Given the description of an element on the screen output the (x, y) to click on. 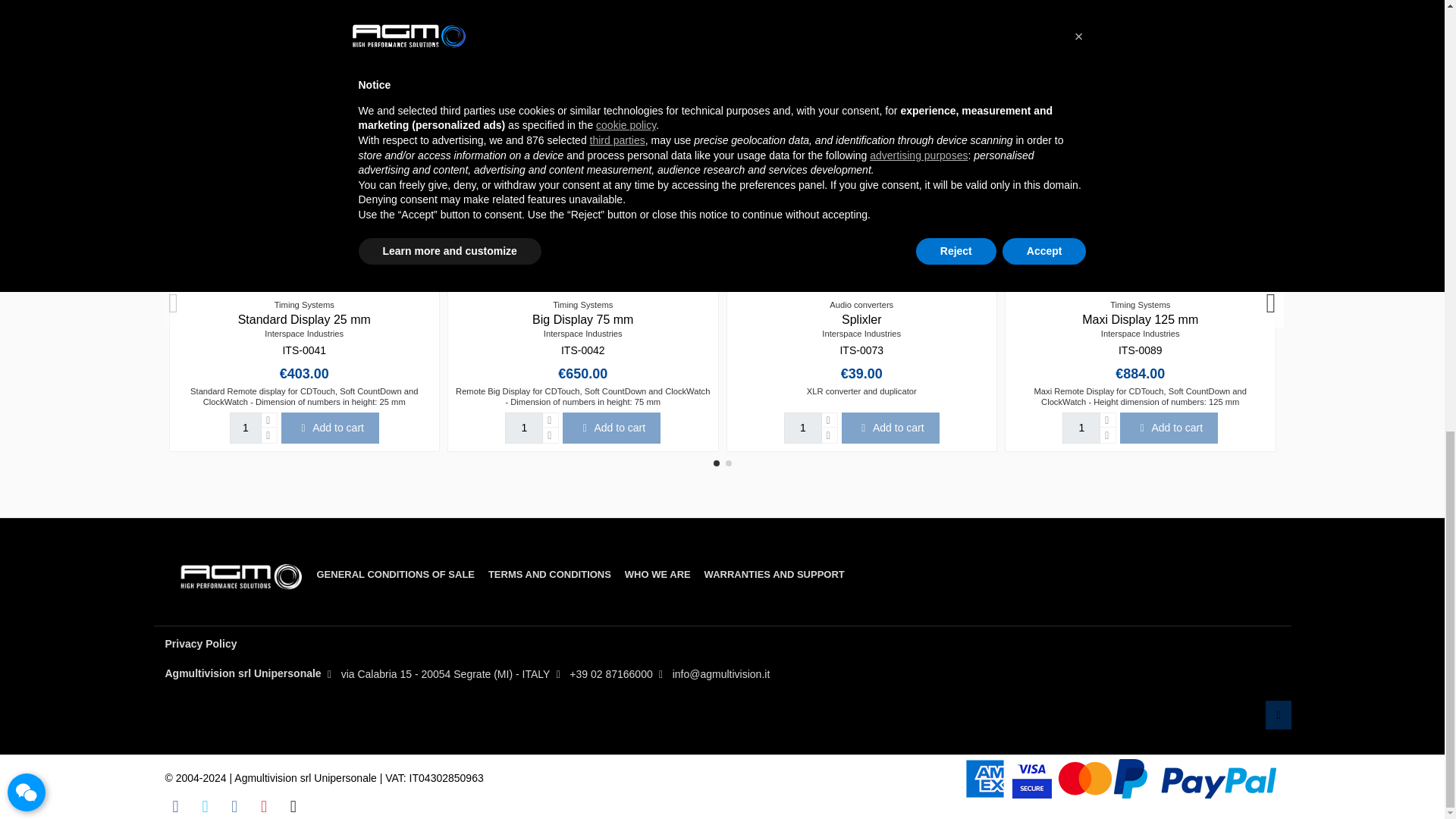
1 (803, 427)
1 (524, 427)
1 (246, 427)
1 (1081, 427)
